Given the description of an element on the screen output the (x, y) to click on. 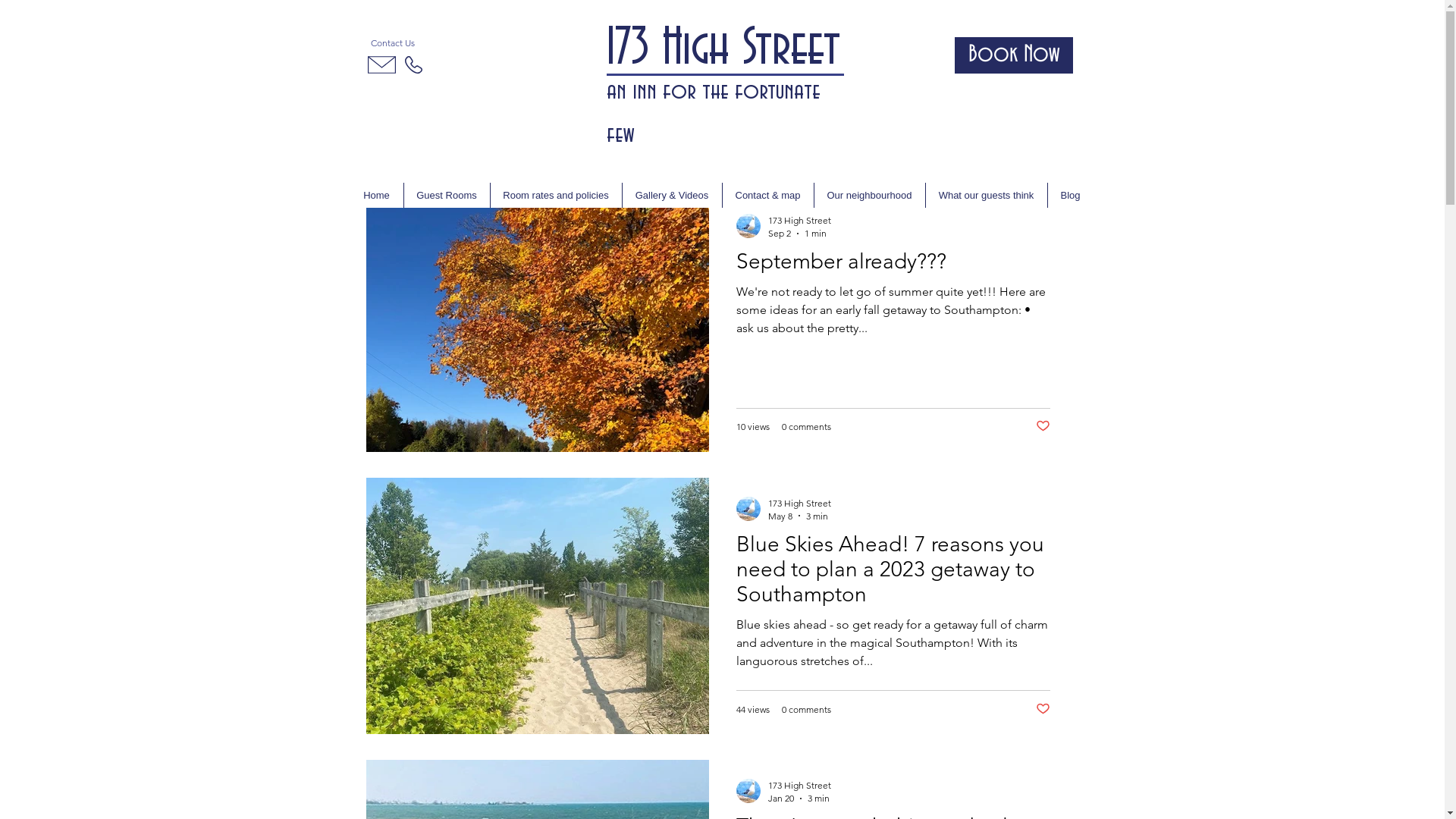
Blog Element type: text (1069, 194)
0 comments Element type: text (805, 709)
Guest Rooms Element type: text (446, 194)
Post not marked as liked Element type: text (1042, 426)
Gallery & Videos Element type: text (671, 194)
Our neighbourhood Element type: text (868, 194)
Book Now Element type: text (1012, 55)
Post not marked as liked Element type: text (1042, 708)
Home Element type: text (376, 194)
September already??? Element type: text (892, 264)
Room rates and policies Element type: text (555, 194)
Contact & map Element type: text (767, 194)
What our guests think Element type: text (986, 194)
0 comments Element type: text (805, 426)
